Given the description of an element on the screen output the (x, y) to click on. 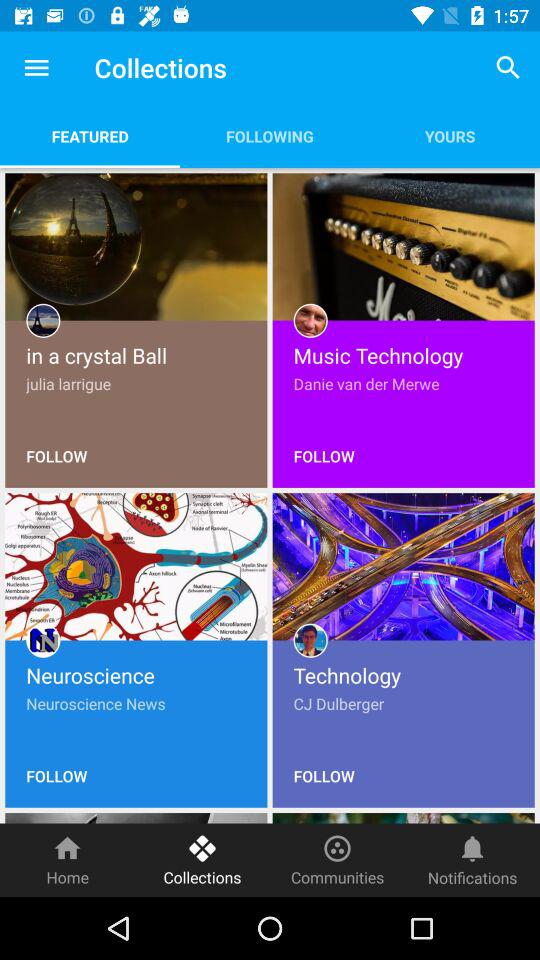
turn off the icon next to the collections (337, 859)
